Given the description of an element on the screen output the (x, y) to click on. 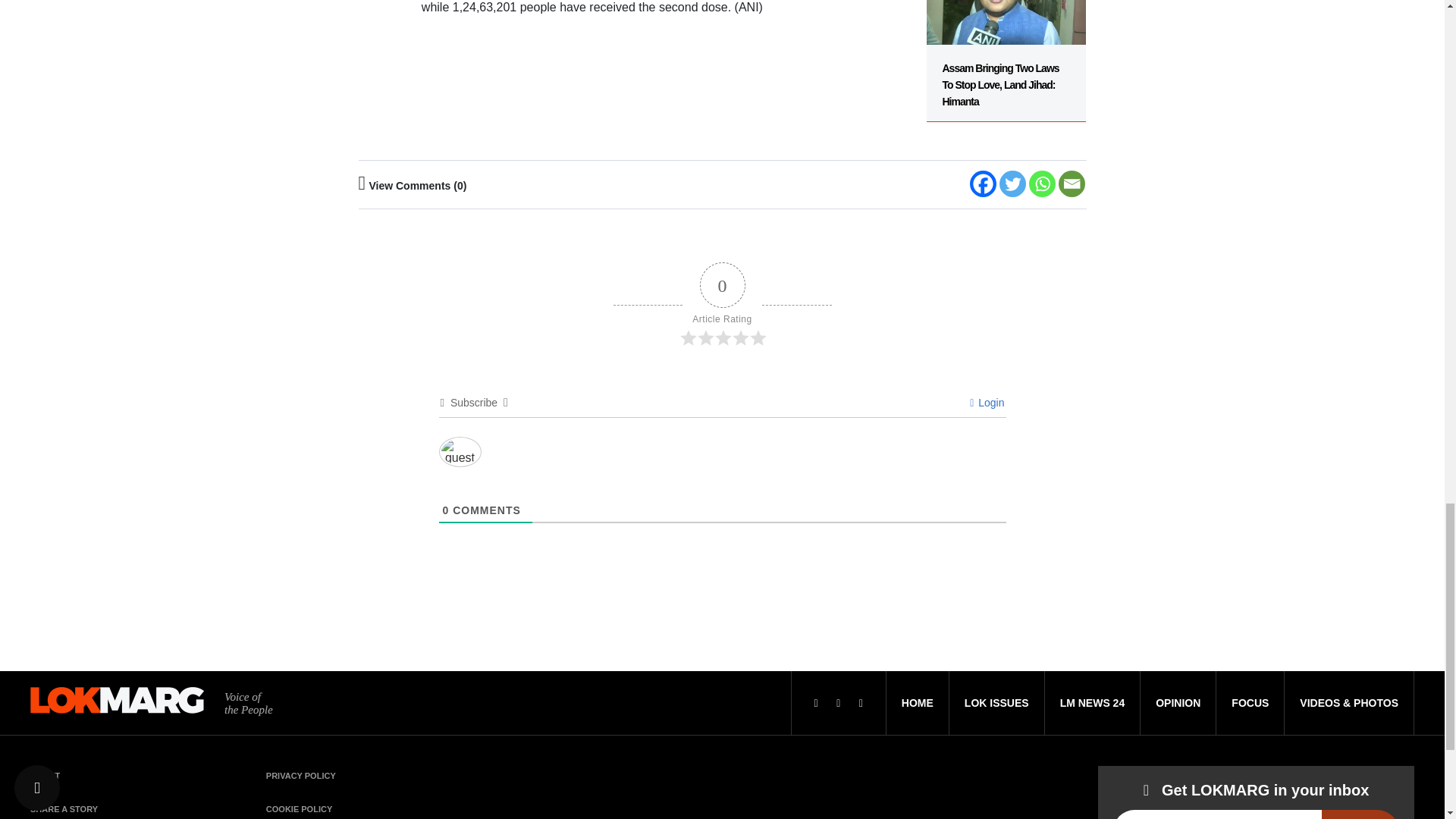
Assam Bringing Two Laws To Stop Love, Land Jihad: Himanta (1006, 61)
Login (986, 402)
Sign Up (1360, 814)
